Given the description of an element on the screen output the (x, y) to click on. 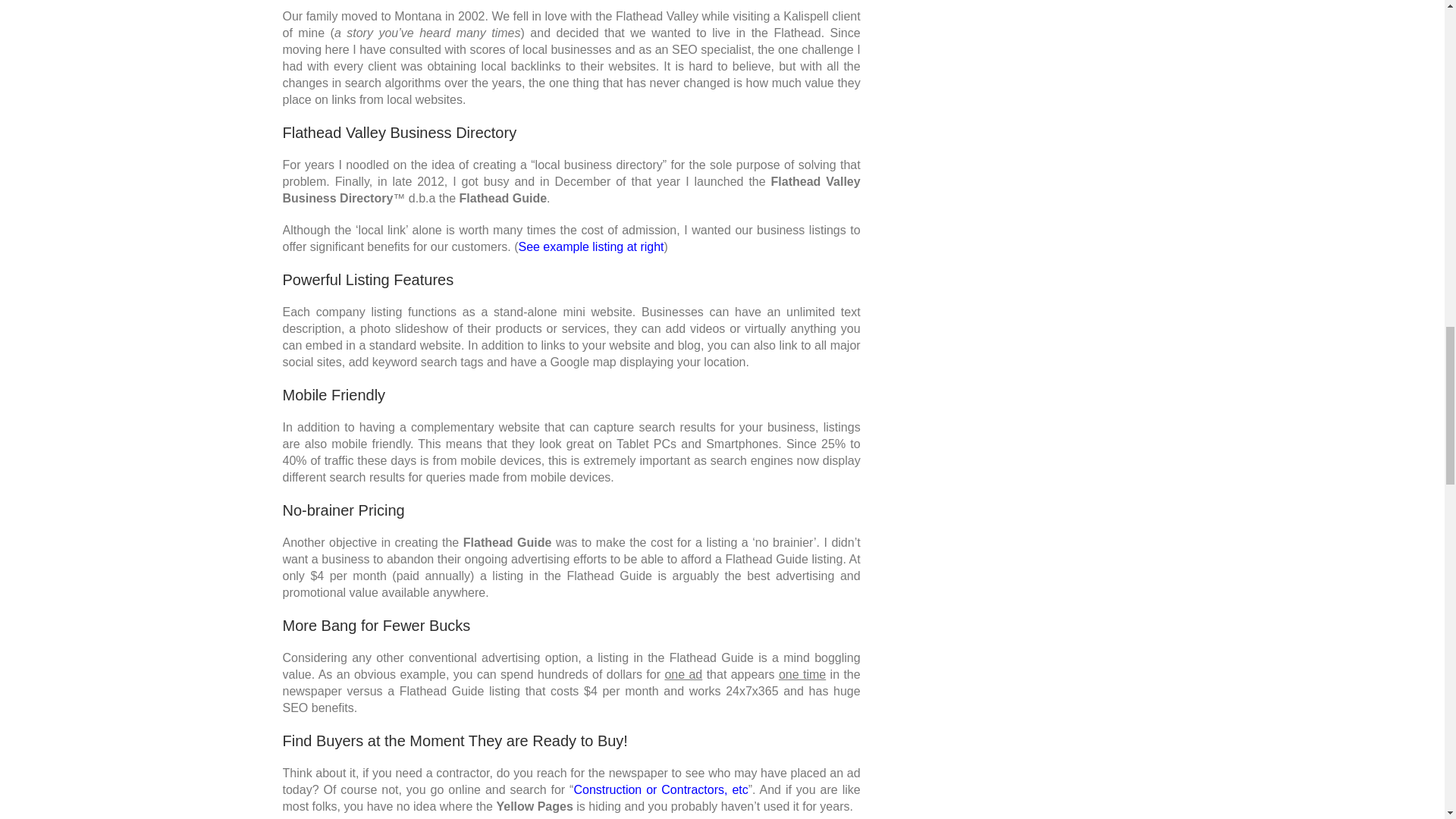
Construction (660, 789)
